Given the description of an element on the screen output the (x, y) to click on. 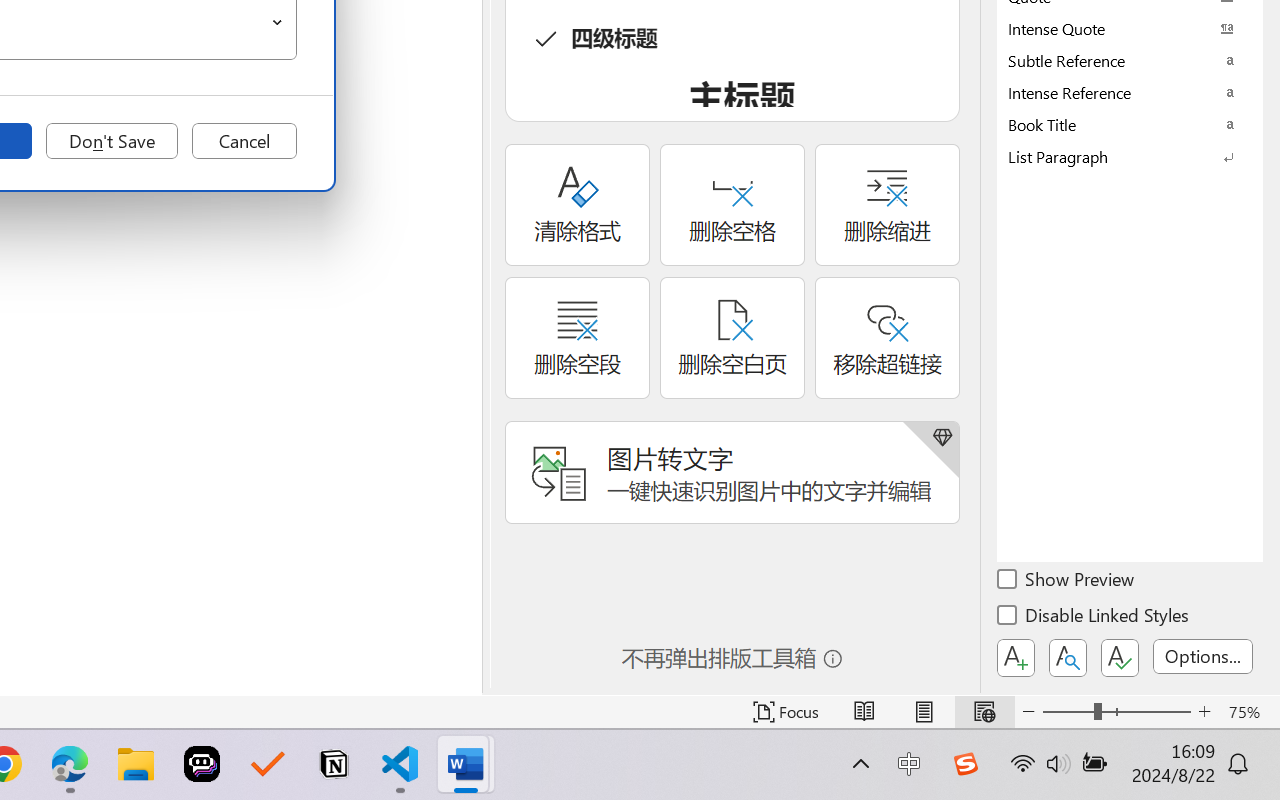
Class: NetUIButton (1119, 657)
Disable Linked Styles (1094, 618)
Zoom (1116, 712)
Cancel (244, 141)
List Paragraph (1130, 156)
Poe (201, 764)
Don't Save (111, 141)
